Given the description of an element on the screen output the (x, y) to click on. 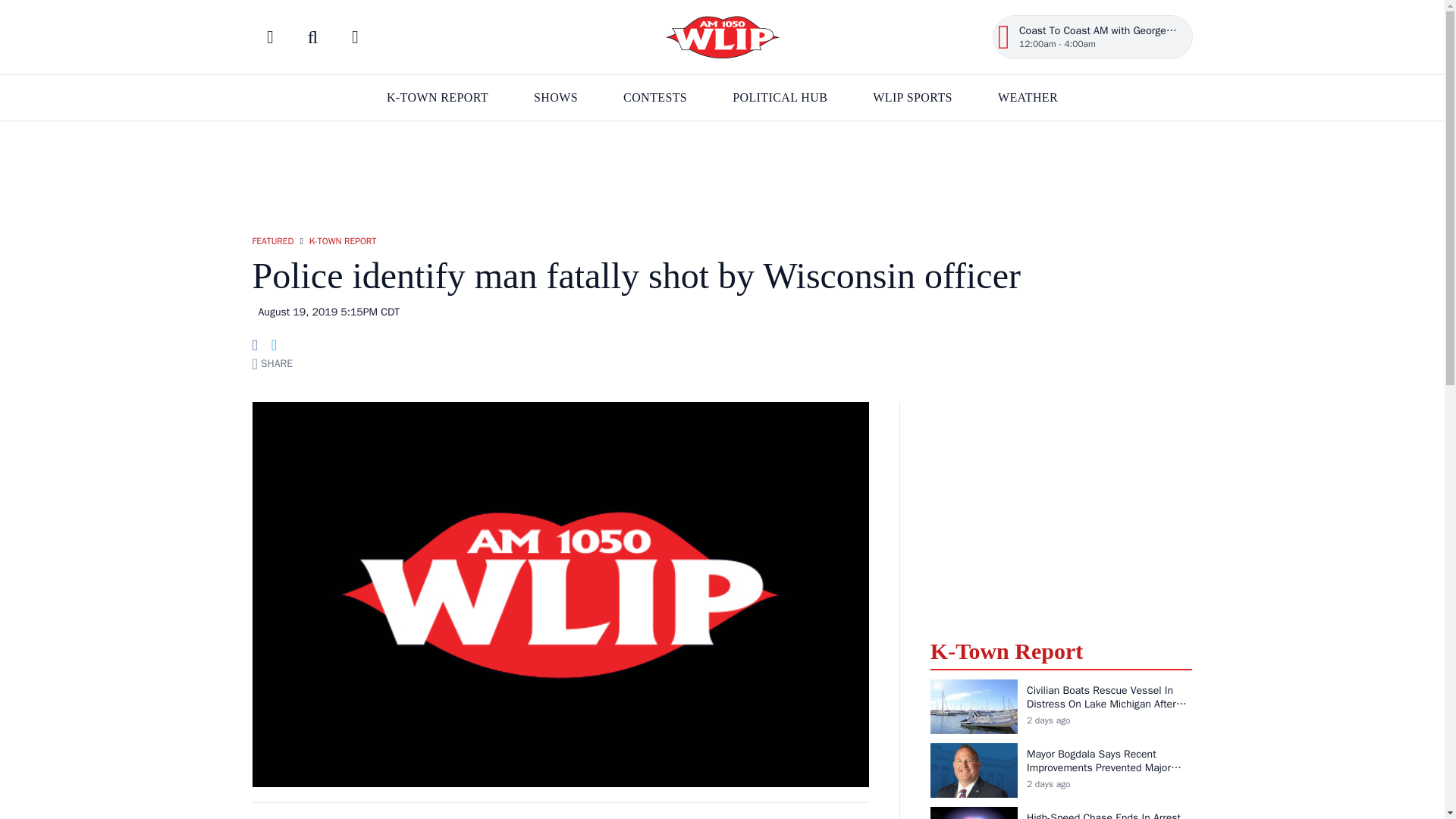
K-TOWN REPORT (437, 97)
CONTESTS (655, 97)
3rd party ad content (721, 170)
WEATHER (1027, 97)
3rd party ad content (1060, 511)
WLIP SPORTS (912, 97)
SHOWS (556, 97)
POLITICAL HUB (779, 97)
AM 1050 WLIP (721, 36)
